Given the description of an element on the screen output the (x, y) to click on. 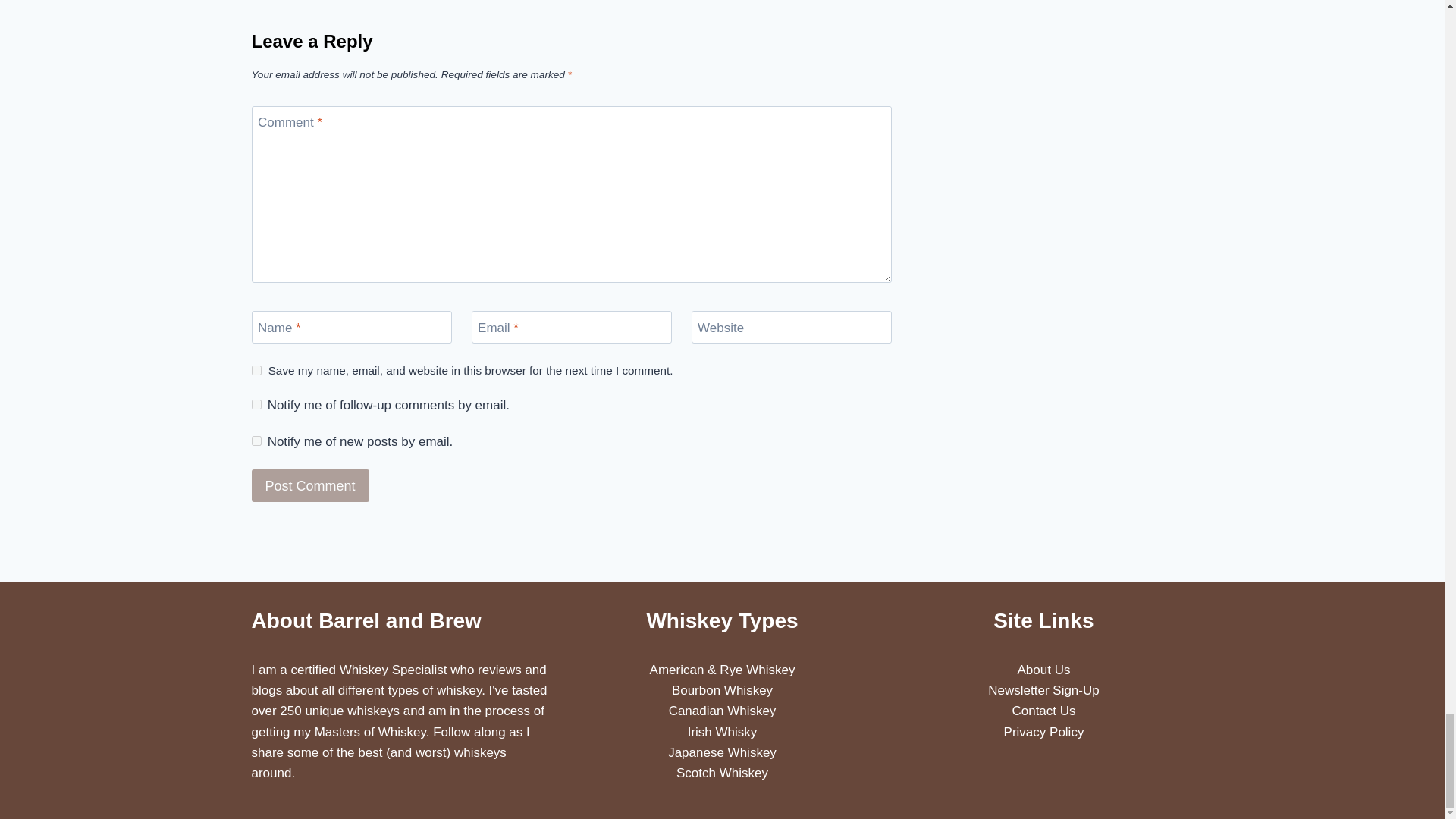
Post Comment (310, 485)
yes (256, 370)
subscribe (256, 404)
subscribe (256, 440)
